Given the description of an element on the screen output the (x, y) to click on. 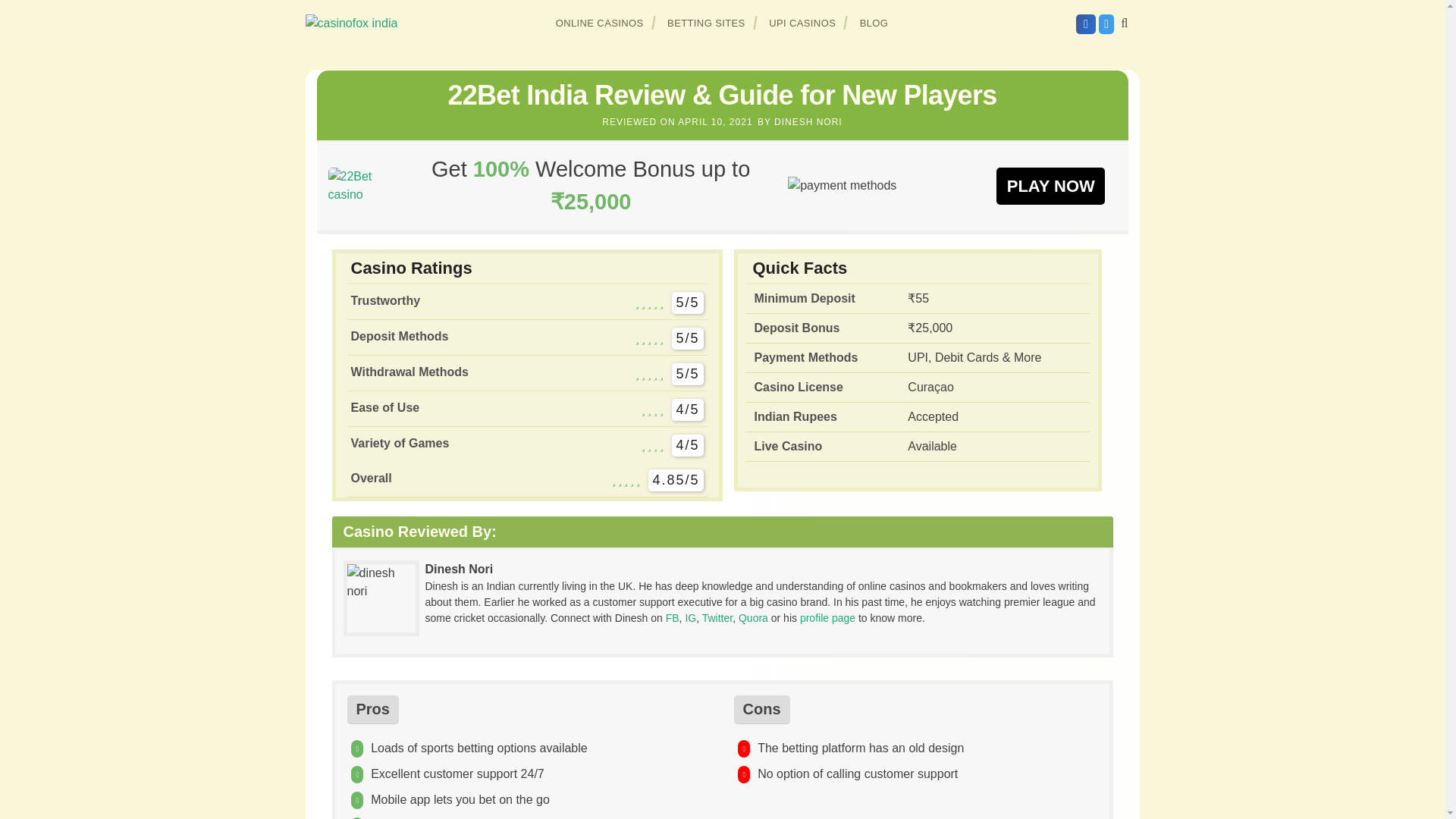
FB (672, 617)
Twitter (716, 617)
BLOG (874, 23)
PLAY NOW (1050, 185)
22Bet (1050, 185)
BETTING SITES (706, 23)
UPI CASINOS (801, 23)
profile page (827, 617)
ONLINE CASINOS (599, 23)
Quora (753, 617)
22Bet (360, 185)
IG (689, 617)
